Given the description of an element on the screen output the (x, y) to click on. 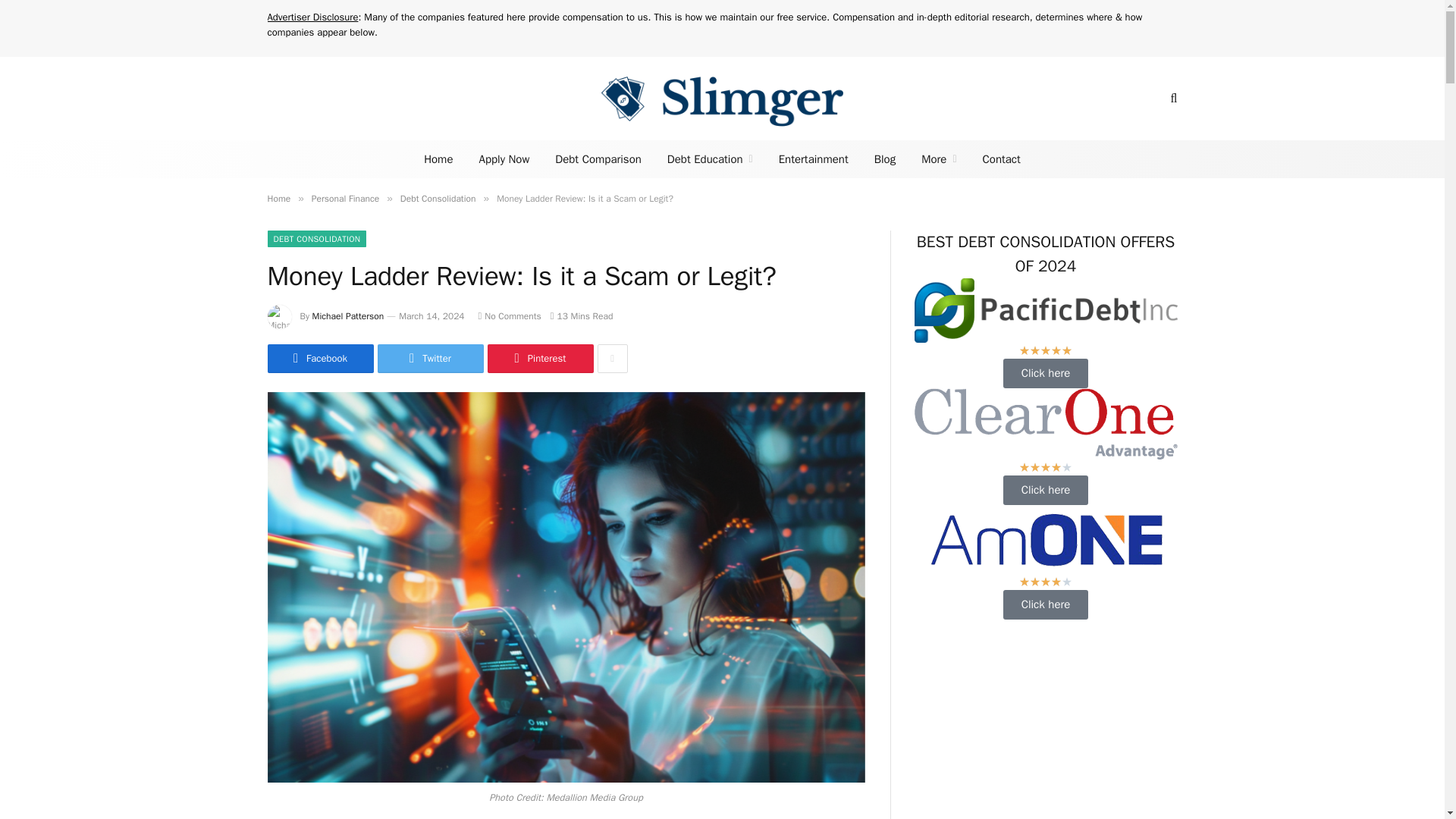
Posts by Michael Patterson (348, 316)
Show More Social Sharing (611, 358)
Share on Pinterest (539, 358)
Blog (884, 159)
Contact (1001, 159)
Advertiser Disclosure (312, 16)
Slimger (722, 98)
Share on Facebook (319, 358)
Debt Education (709, 159)
Apply Now (503, 159)
